Given the description of an element on the screen output the (x, y) to click on. 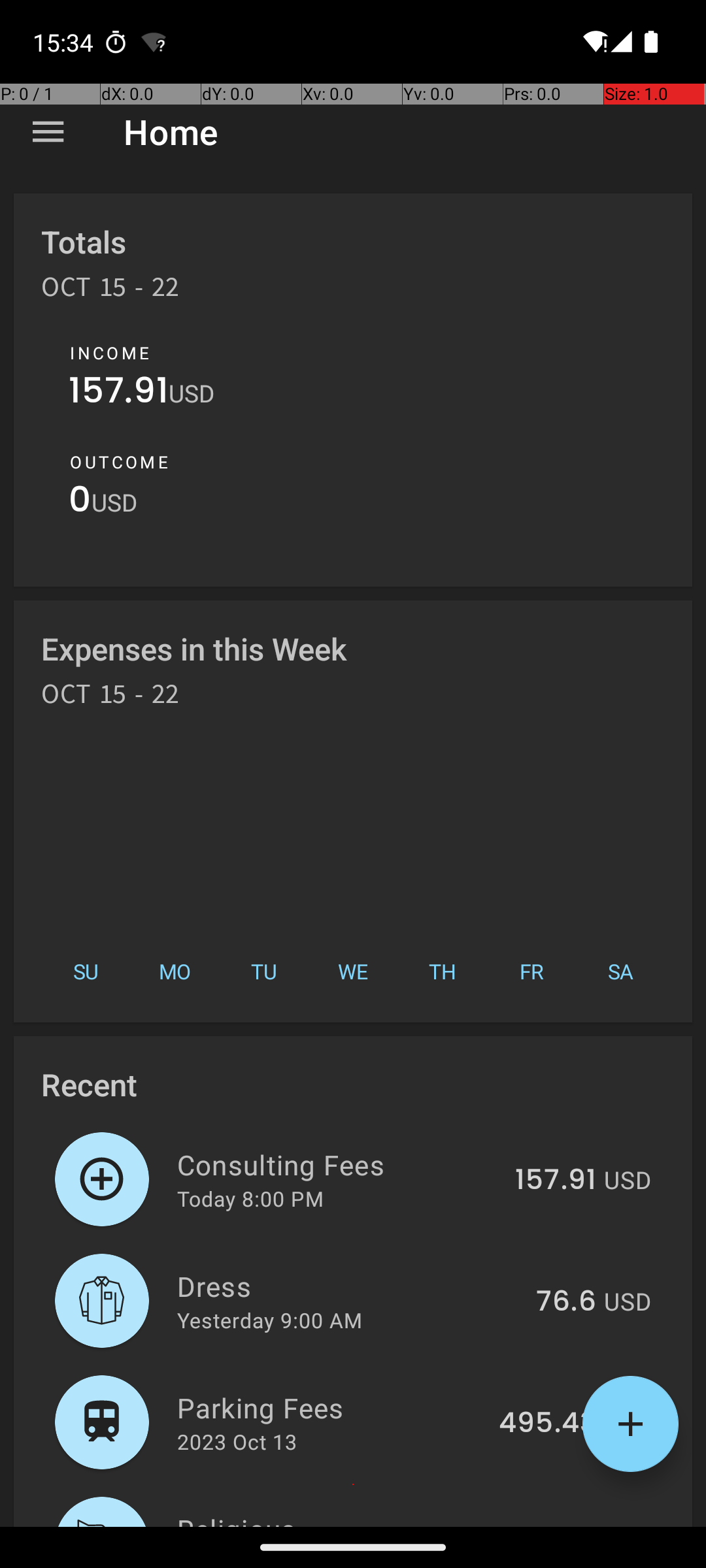
157.91 Element type: android.widget.TextView (118, 393)
Consulting Fees Element type: android.widget.TextView (338, 1164)
Dress Element type: android.widget.TextView (348, 1285)
Yesterday 9:00 AM Element type: android.widget.TextView (269, 1320)
76.6 Element type: android.widget.TextView (565, 1301)
Parking Fees Element type: android.widget.TextView (330, 1407)
495.43 Element type: android.widget.TextView (547, 1423)
Religious Element type: android.widget.TextView (343, 1518)
309.1 Element type: android.widget.TextView (560, 1524)
